Given the description of an element on the screen output the (x, y) to click on. 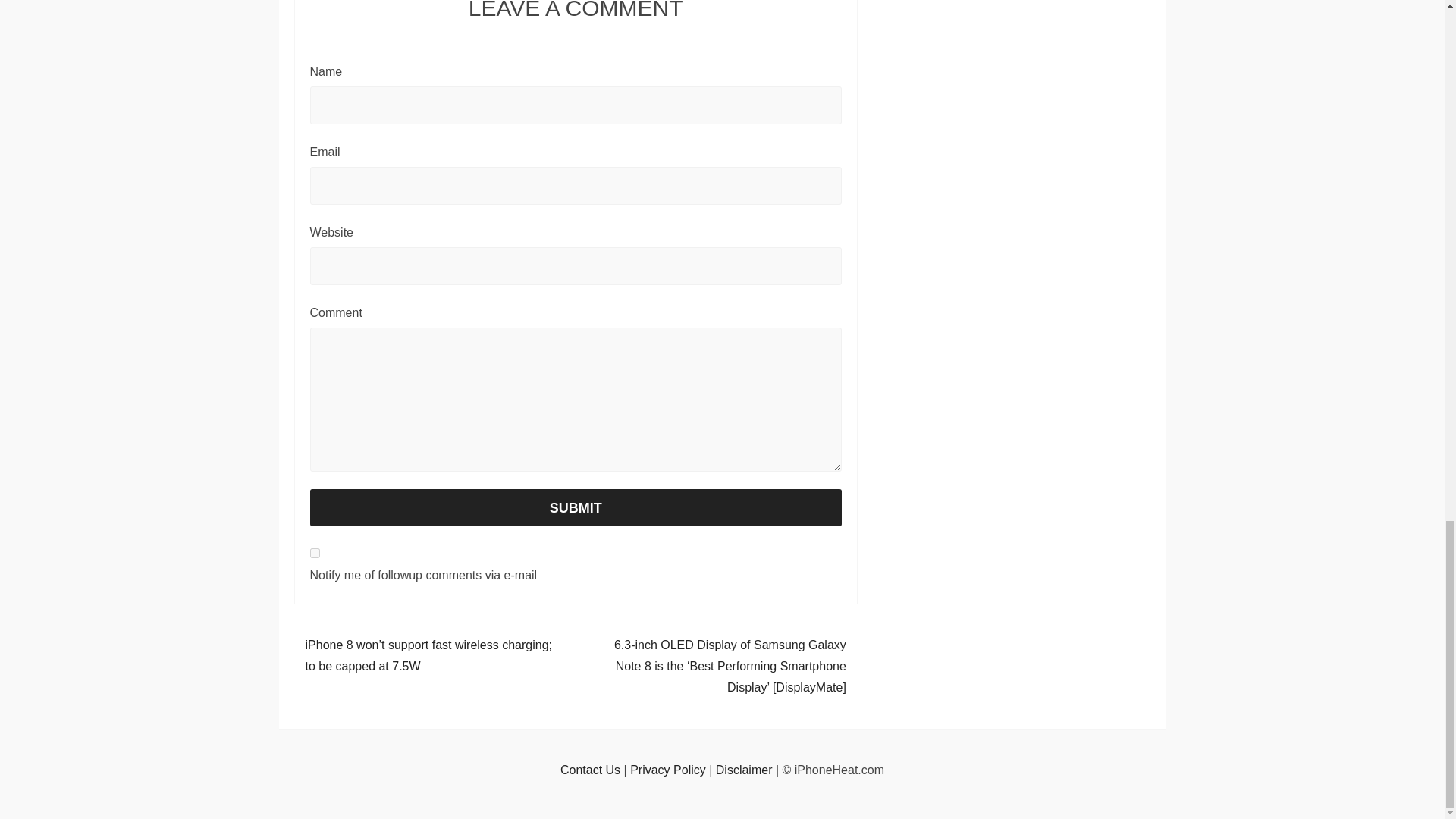
Submit (574, 507)
subscribe (313, 552)
